Given the description of an element on the screen output the (x, y) to click on. 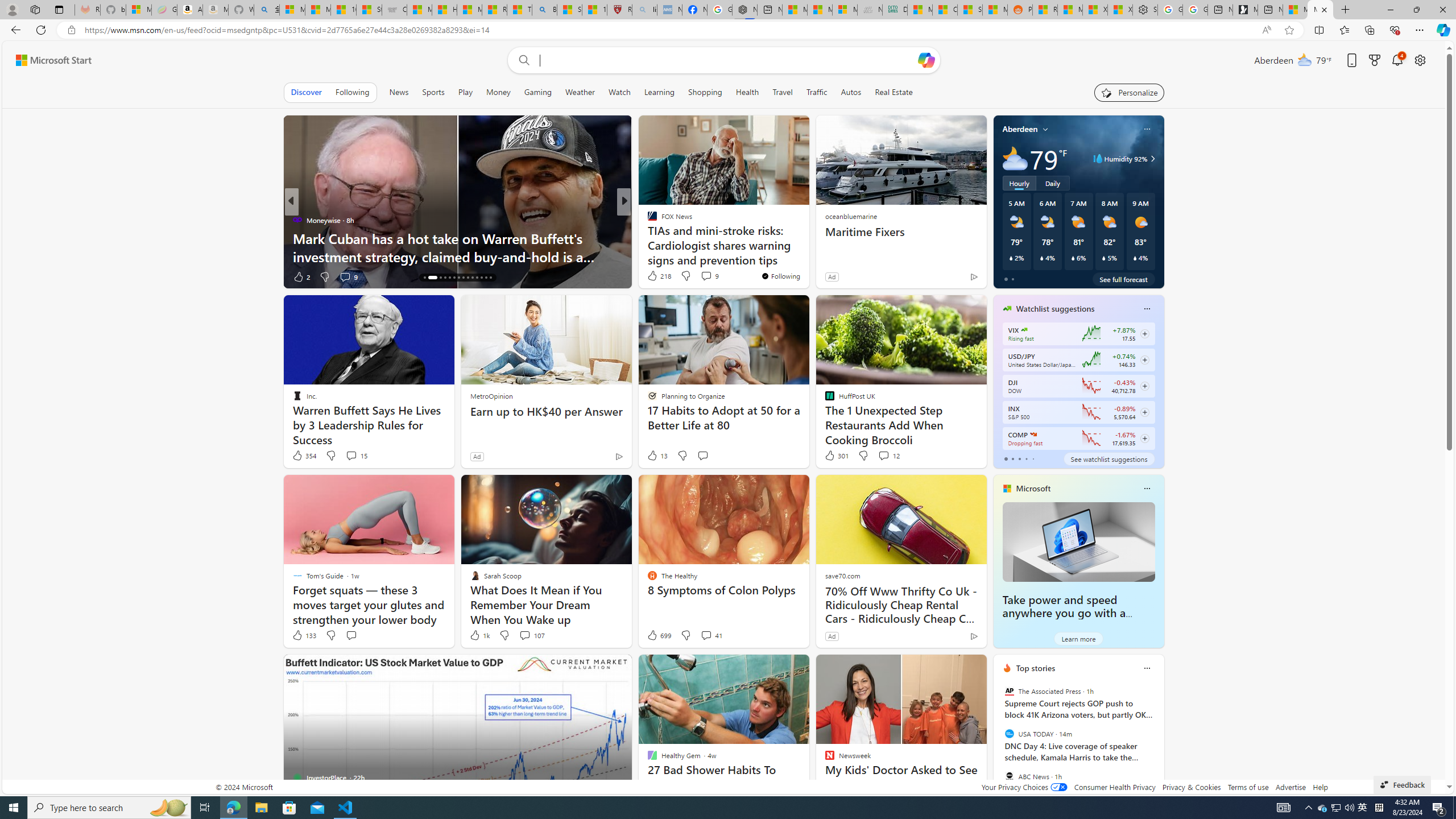
View comments 167 Comment (703, 276)
MetroOpinion (491, 395)
Class: weather-arrow-glyph (1152, 158)
